Given the description of an element on the screen output the (x, y) to click on. 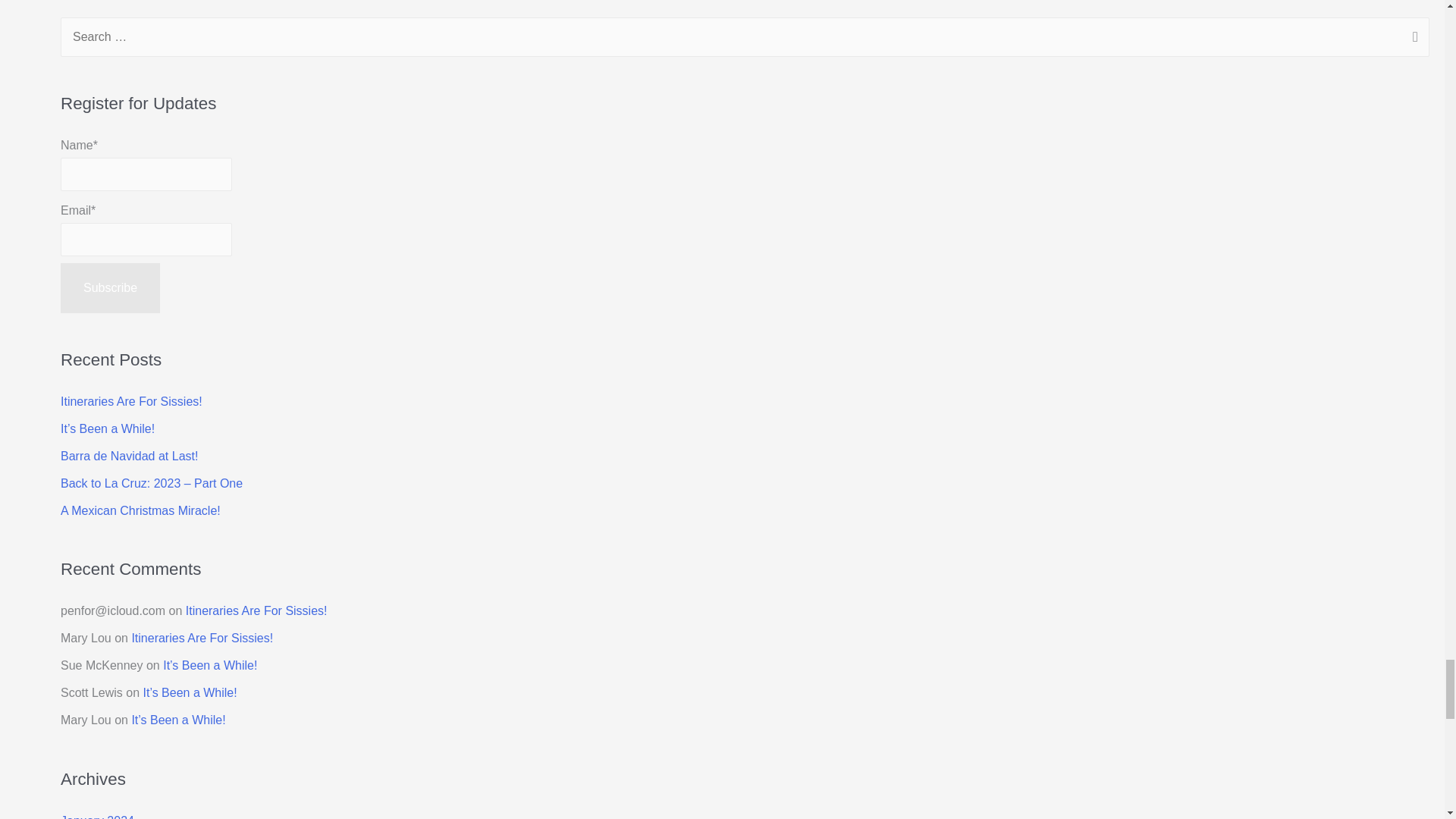
Subscribe (110, 287)
Subscribe (110, 287)
January 2024 (97, 816)
Itineraries Are For Sissies! (131, 400)
Itineraries Are For Sissies! (202, 637)
Barra de Navidad at Last! (129, 455)
A Mexican Christmas Miracle! (141, 510)
Itineraries Are For Sissies! (256, 610)
